Given the description of an element on the screen output the (x, y) to click on. 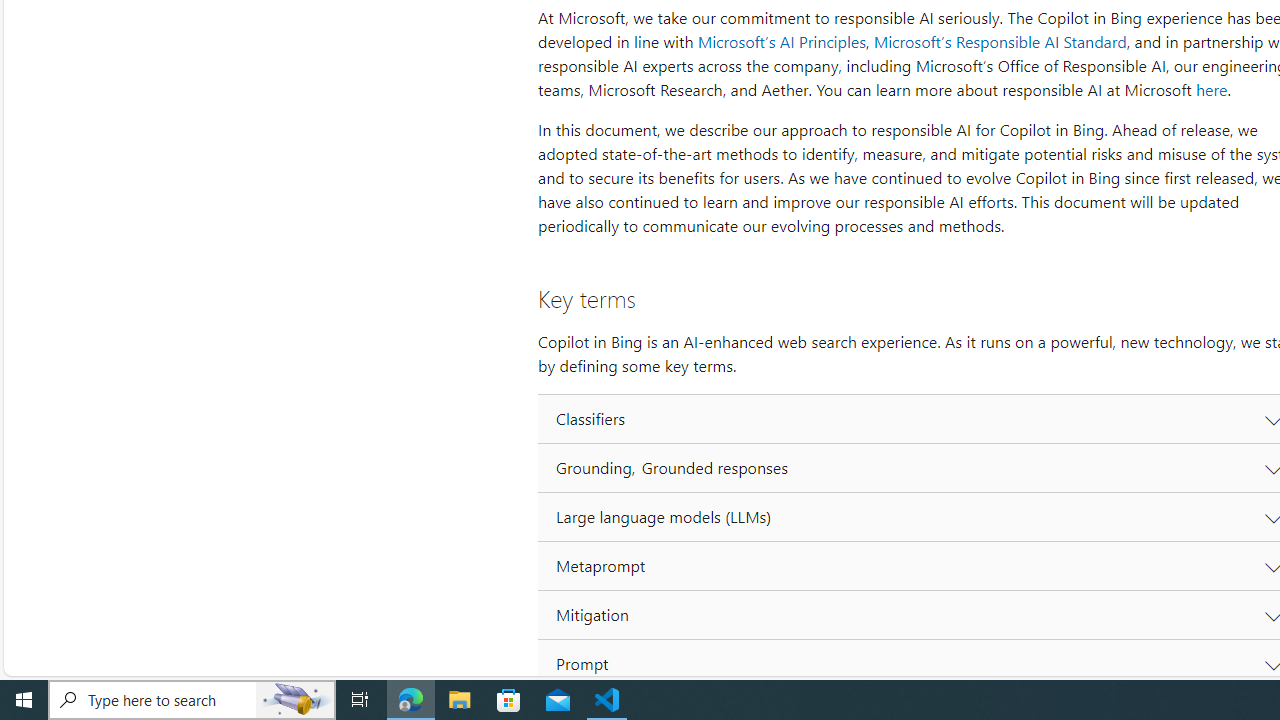
here (1211, 89)
